Given the description of an element on the screen output the (x, y) to click on. 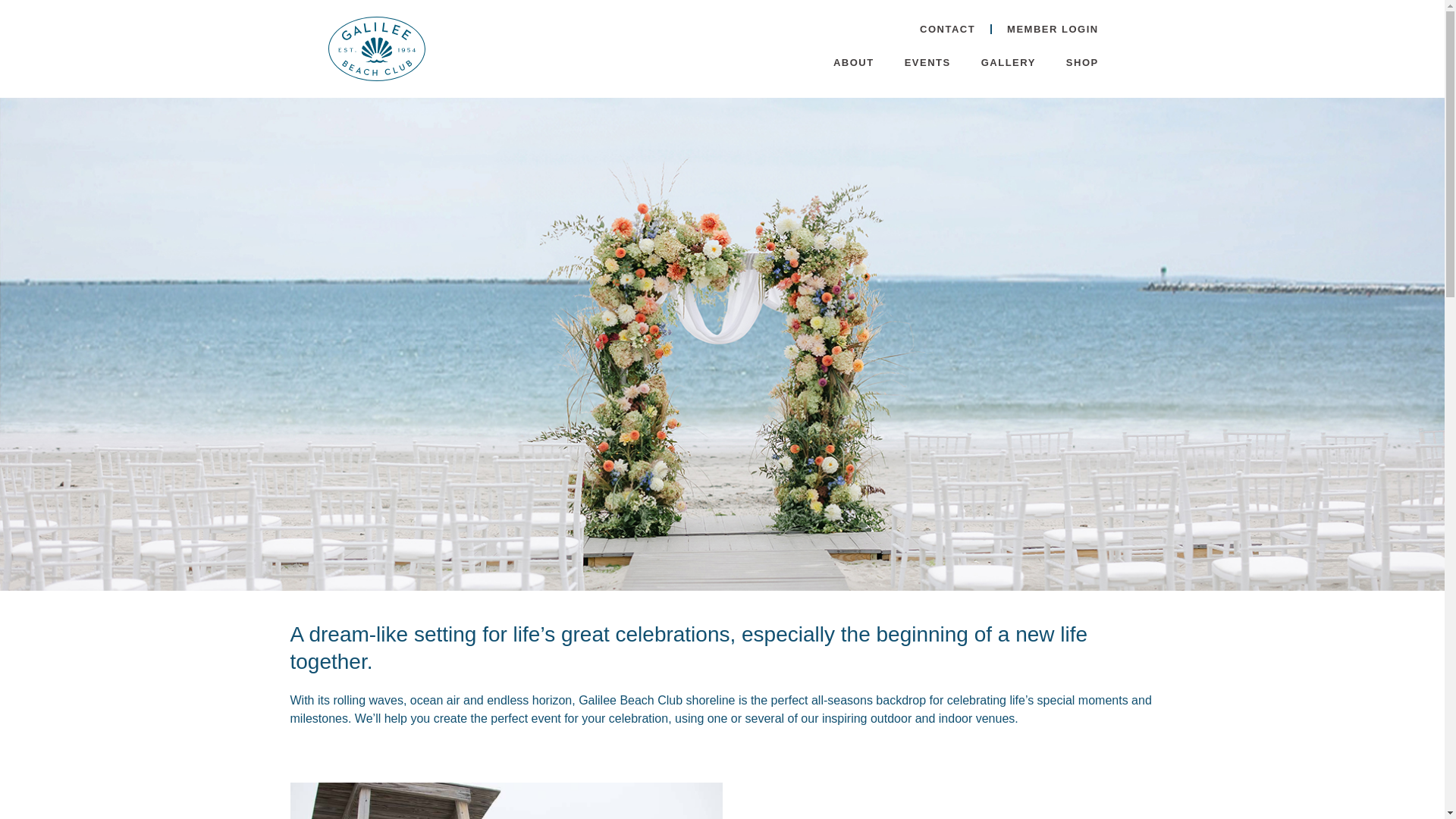
SHOP (1082, 62)
MEMBER LOGIN (1052, 29)
ABOUT (853, 62)
CONTACT (947, 29)
GALLERY (1008, 62)
EVENTS (927, 62)
